Given the description of an element on the screen output the (x, y) to click on. 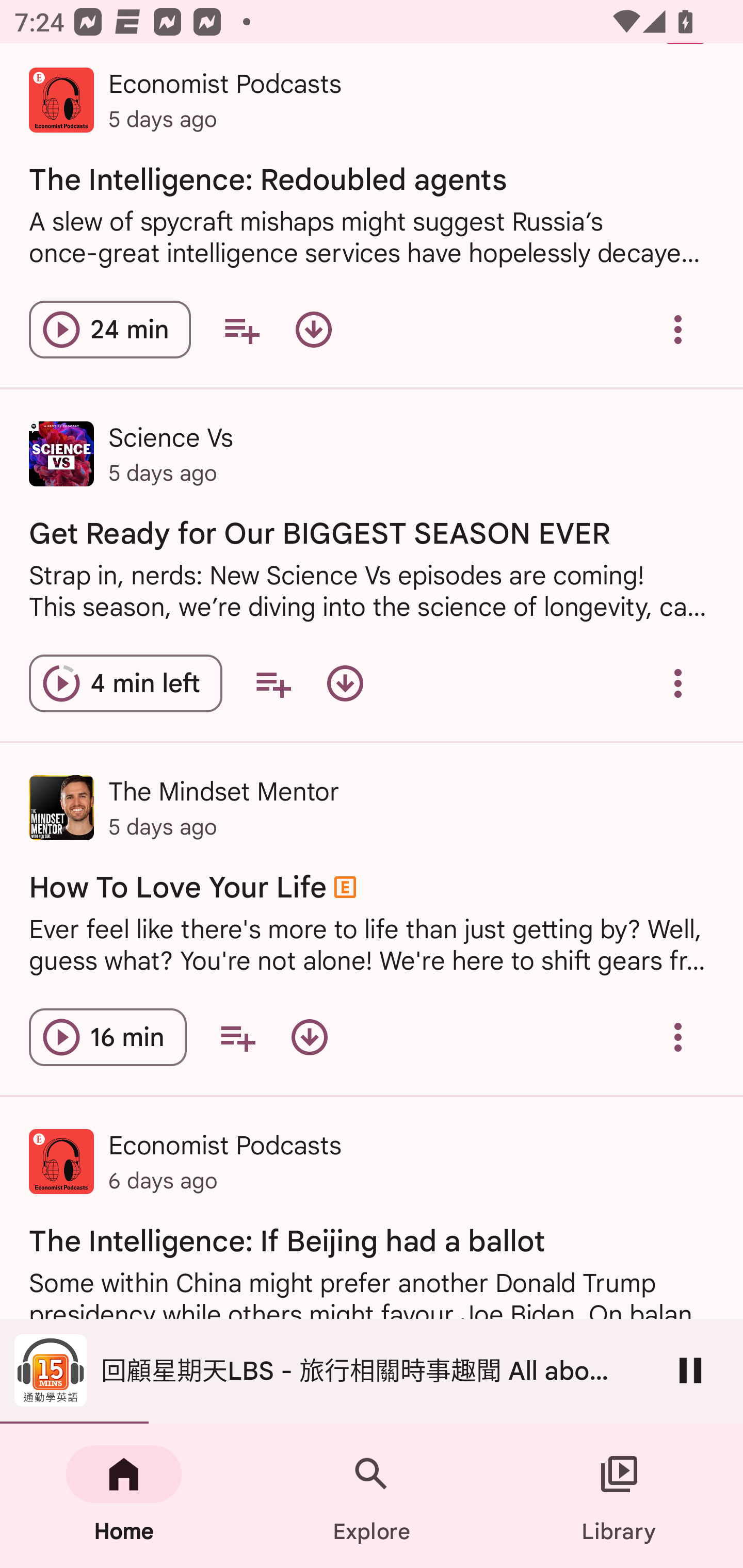
Add to your queue (241, 329)
Download episode (313, 329)
Overflow menu (677, 329)
Add to your queue (273, 682)
Download episode (345, 682)
Overflow menu (677, 682)
Play episode How To Love Your Life 16 min (107, 1037)
Add to your queue (237, 1037)
Download episode (309, 1037)
Overflow menu (677, 1037)
Pause (690, 1370)
Explore (371, 1495)
Library (619, 1495)
